Given the description of an element on the screen output the (x, y) to click on. 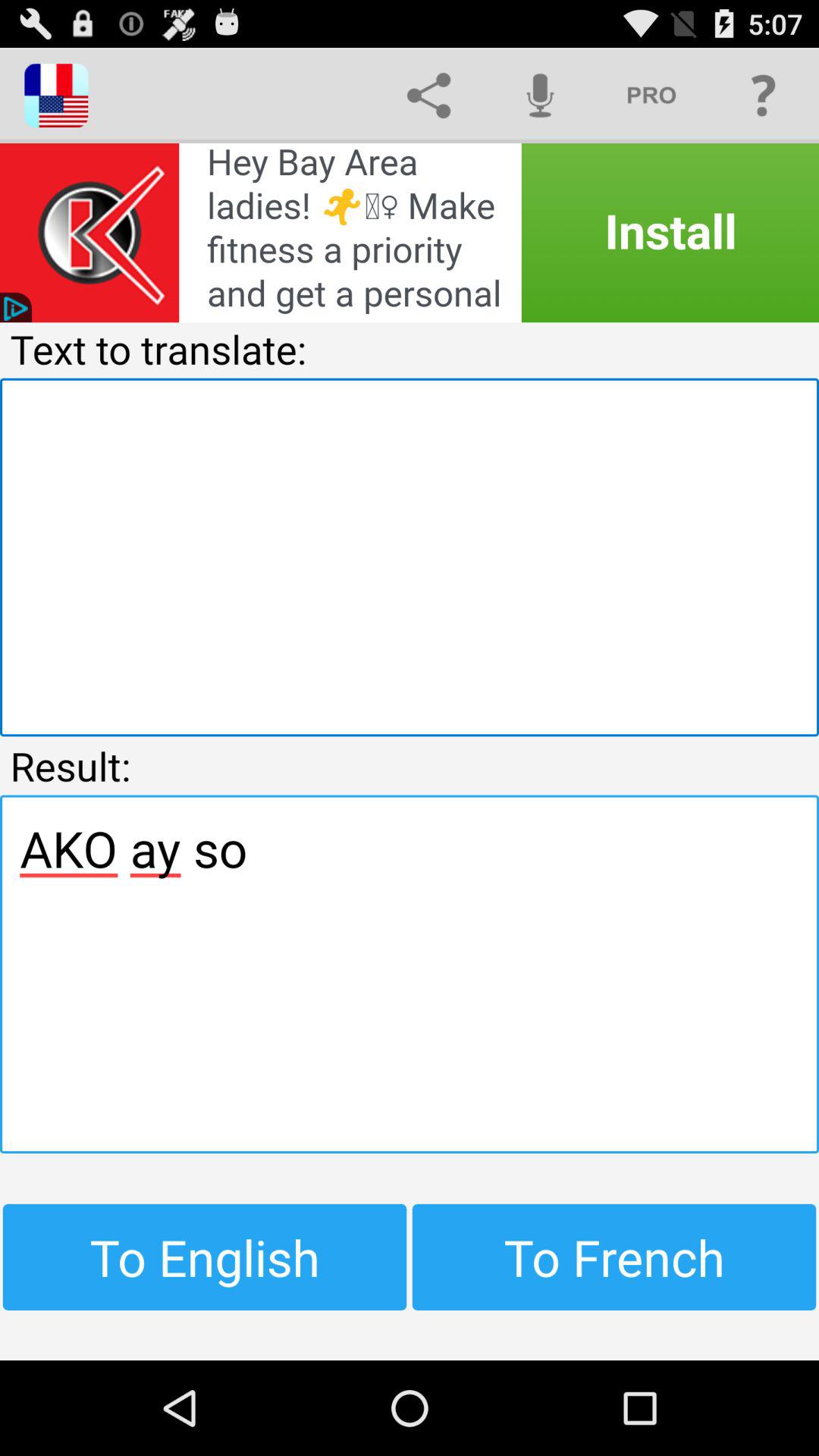
press the item at the bottom right corner (614, 1257)
